Given the description of an element on the screen output the (x, y) to click on. 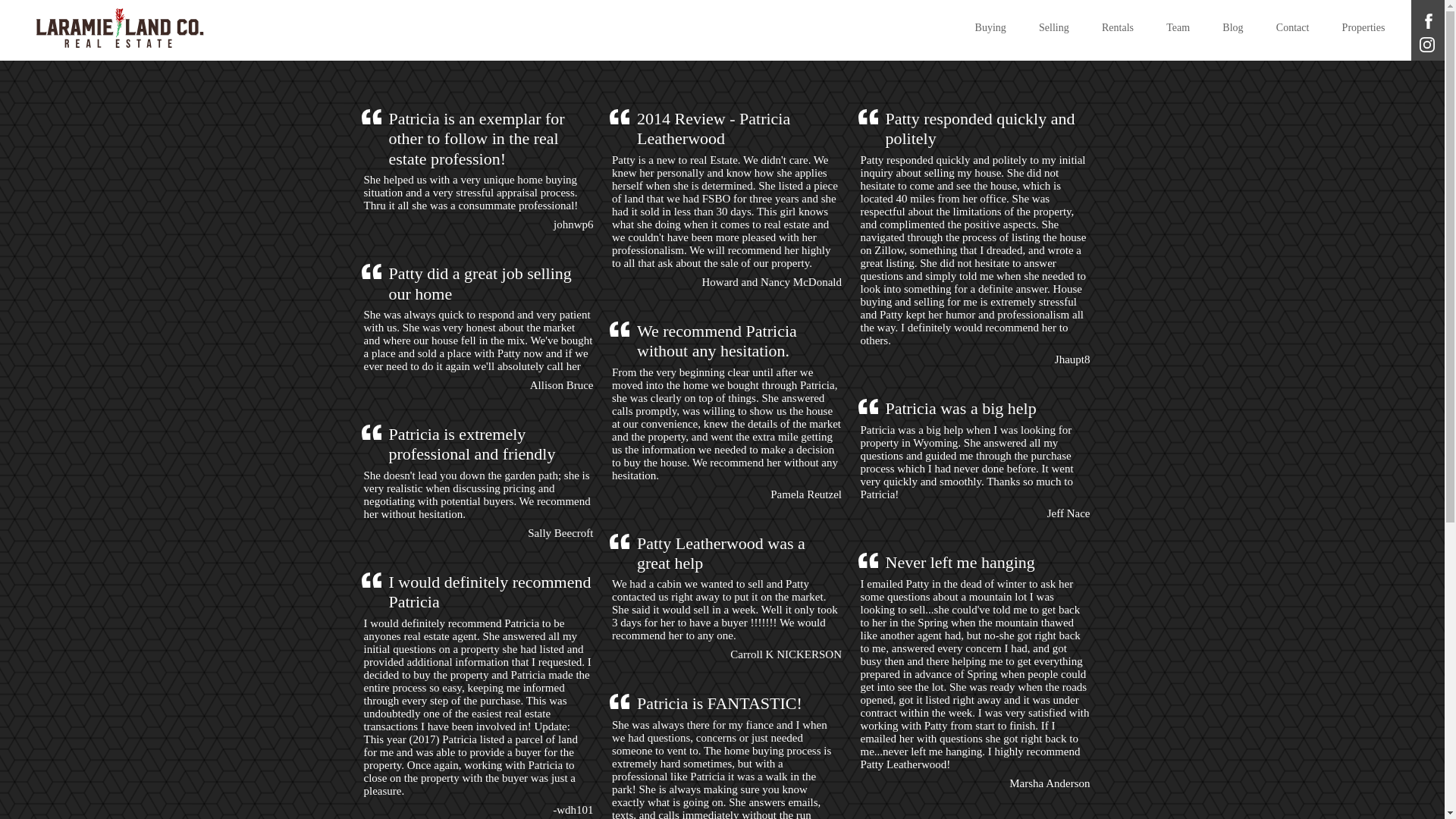
Rentals (1117, 27)
Properties (1362, 27)
Blog (1232, 27)
Contact (1292, 27)
Selling (1053, 27)
Buying (989, 27)
Team (1178, 27)
